Given the description of an element on the screen output the (x, y) to click on. 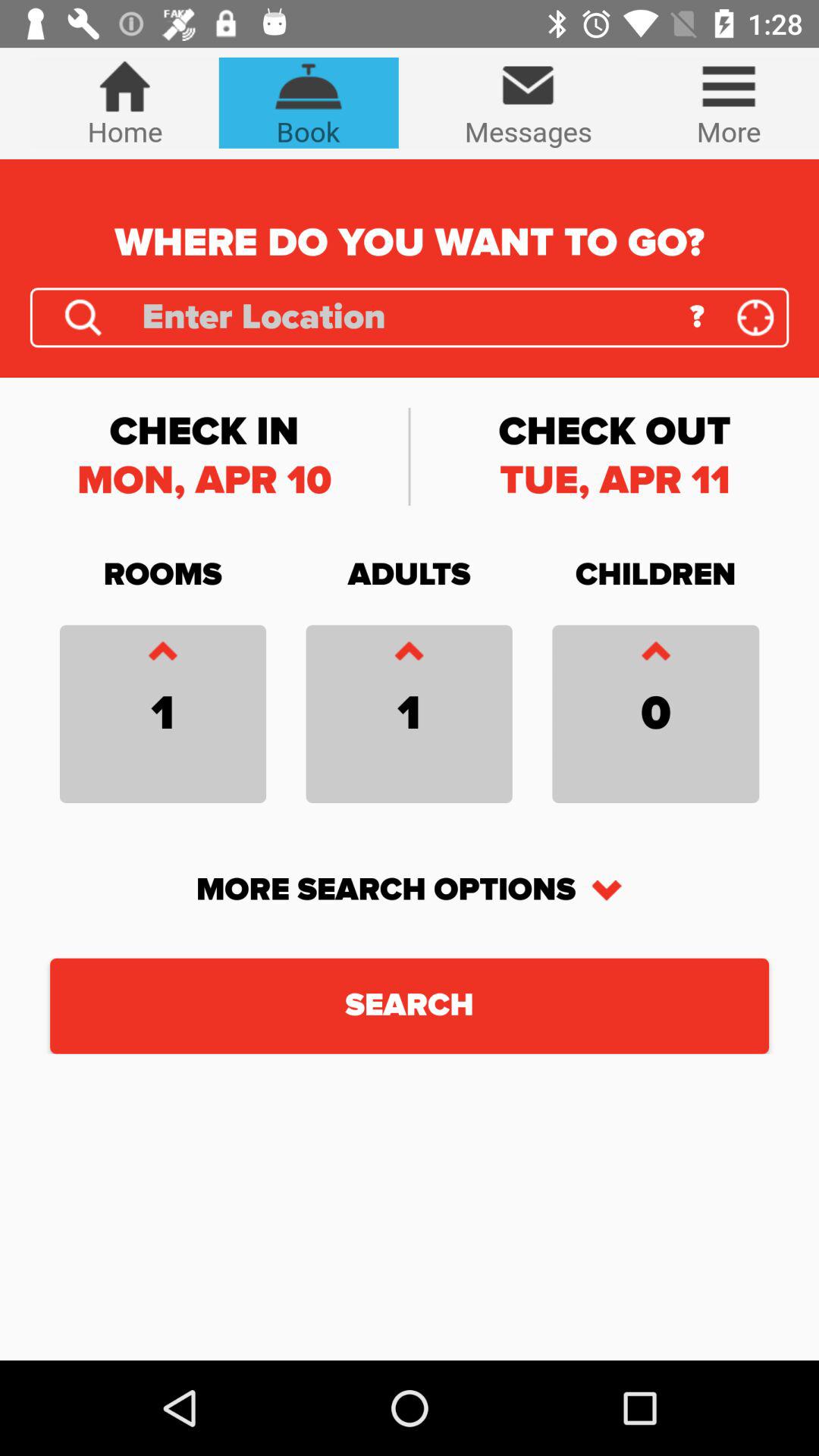
add an item (655, 654)
